Given the description of an element on the screen output the (x, y) to click on. 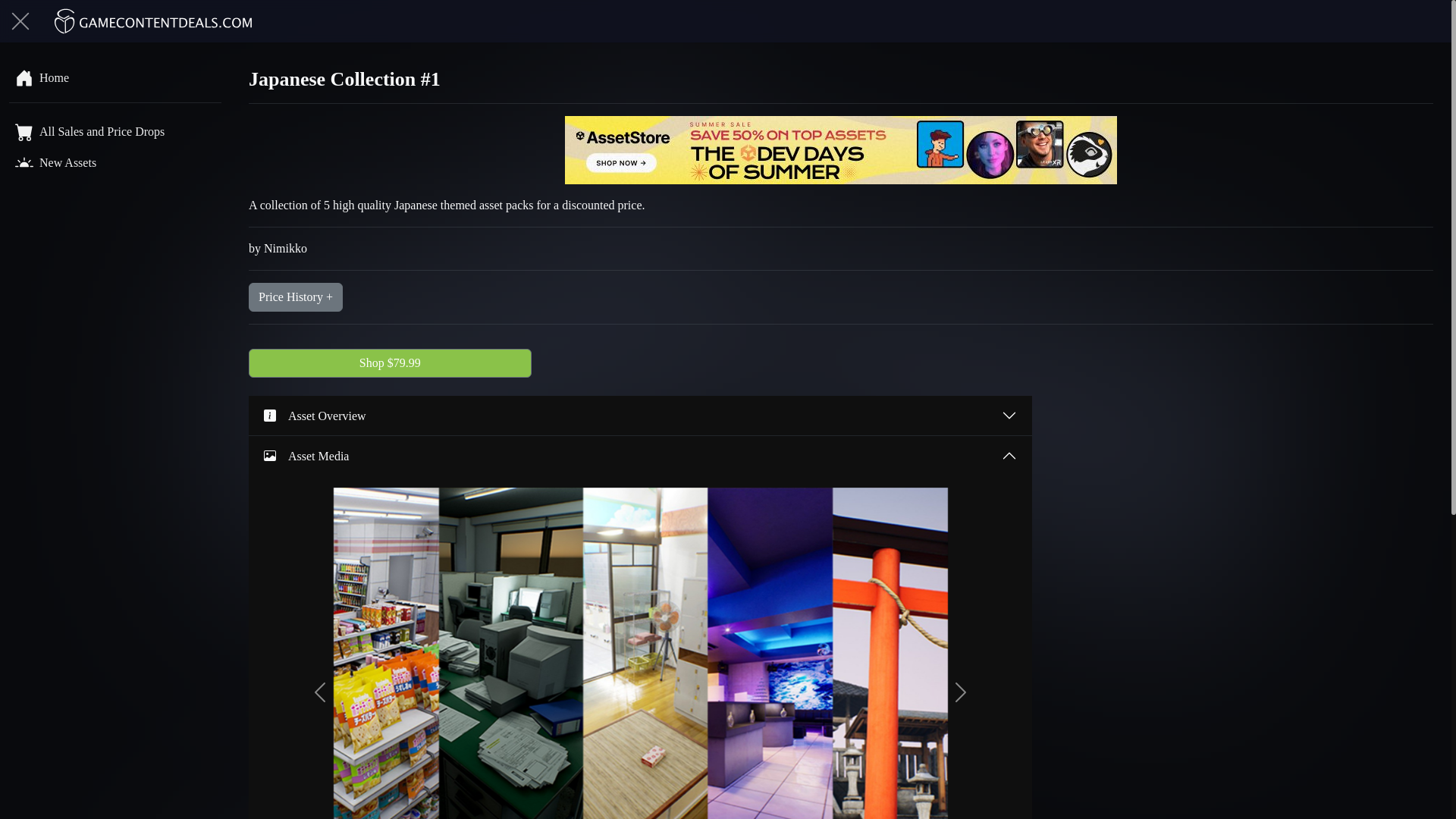
Asset Overview (640, 414)
All Sales and Price Drops (114, 130)
Home (114, 77)
Asset Media (640, 455)
New Assets (114, 162)
